Given the description of an element on the screen output the (x, y) to click on. 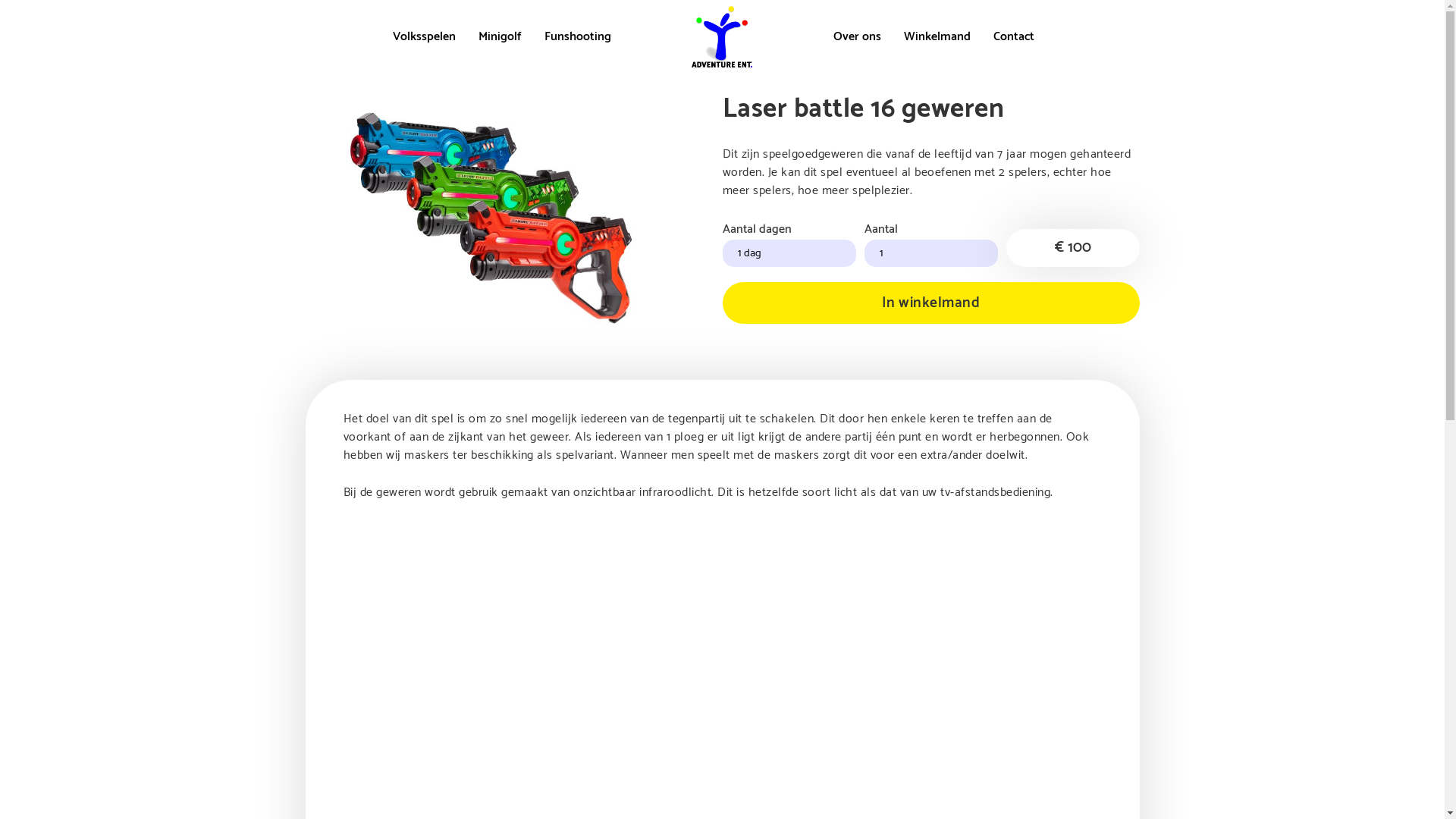
Over ons Element type: text (857, 36)
Contact Element type: text (1013, 36)
Winkelmand Element type: text (937, 36)
Adventure ent. home Element type: hover (722, 36)
Funshooting Element type: text (577, 36)
Volksspelen Element type: text (424, 36)
Minigolf Element type: text (500, 36)
